Given the description of an element on the screen output the (x, y) to click on. 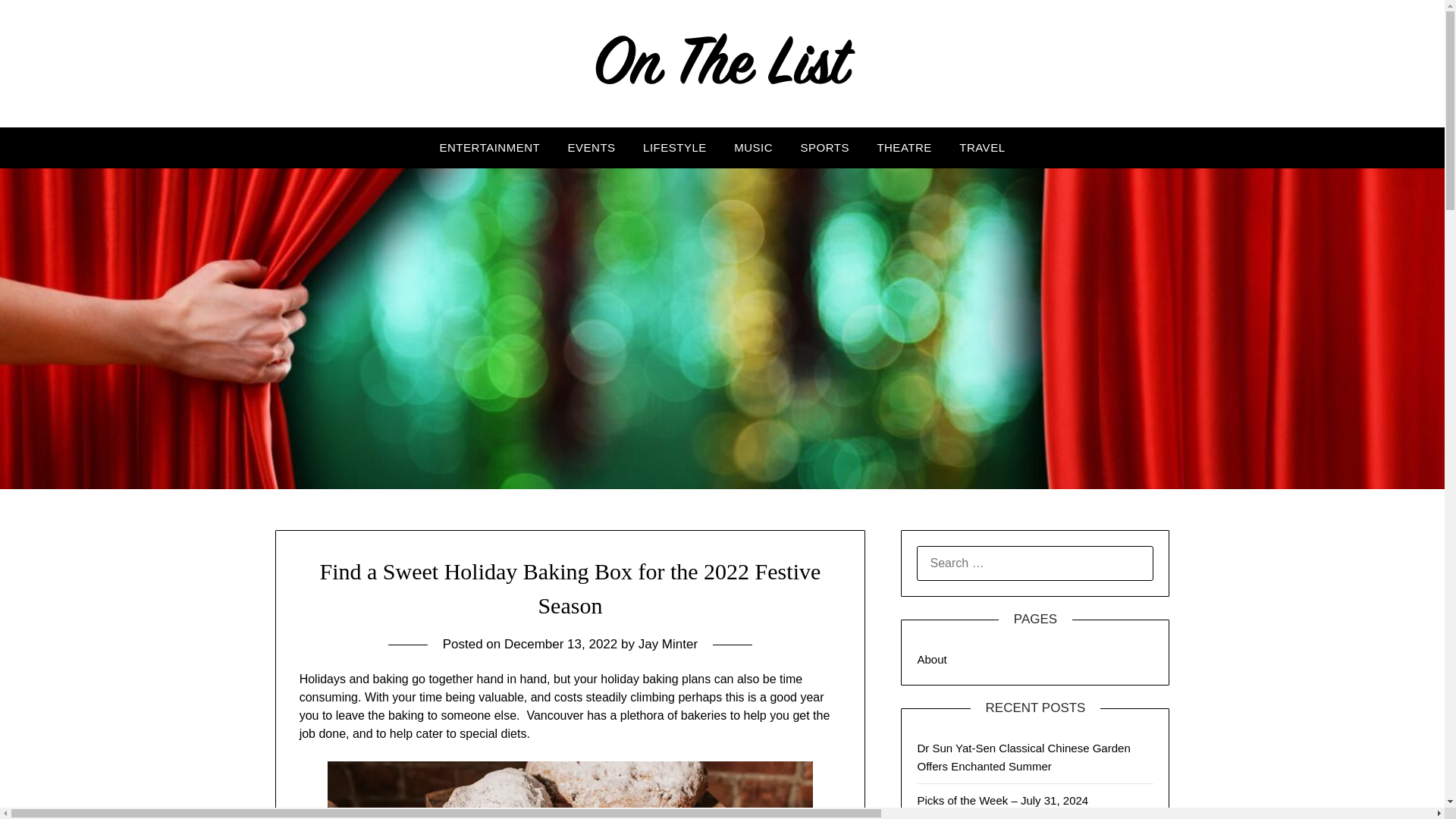
SPORTS (825, 147)
ENTERTAINMENT (490, 147)
About (931, 658)
TRAVEL (981, 147)
Search (38, 22)
December 13, 2022 (560, 644)
MUSIC (753, 147)
LIFESTYLE (674, 147)
EVENTS (591, 147)
THEATRE (903, 147)
